Given the description of an element on the screen output the (x, y) to click on. 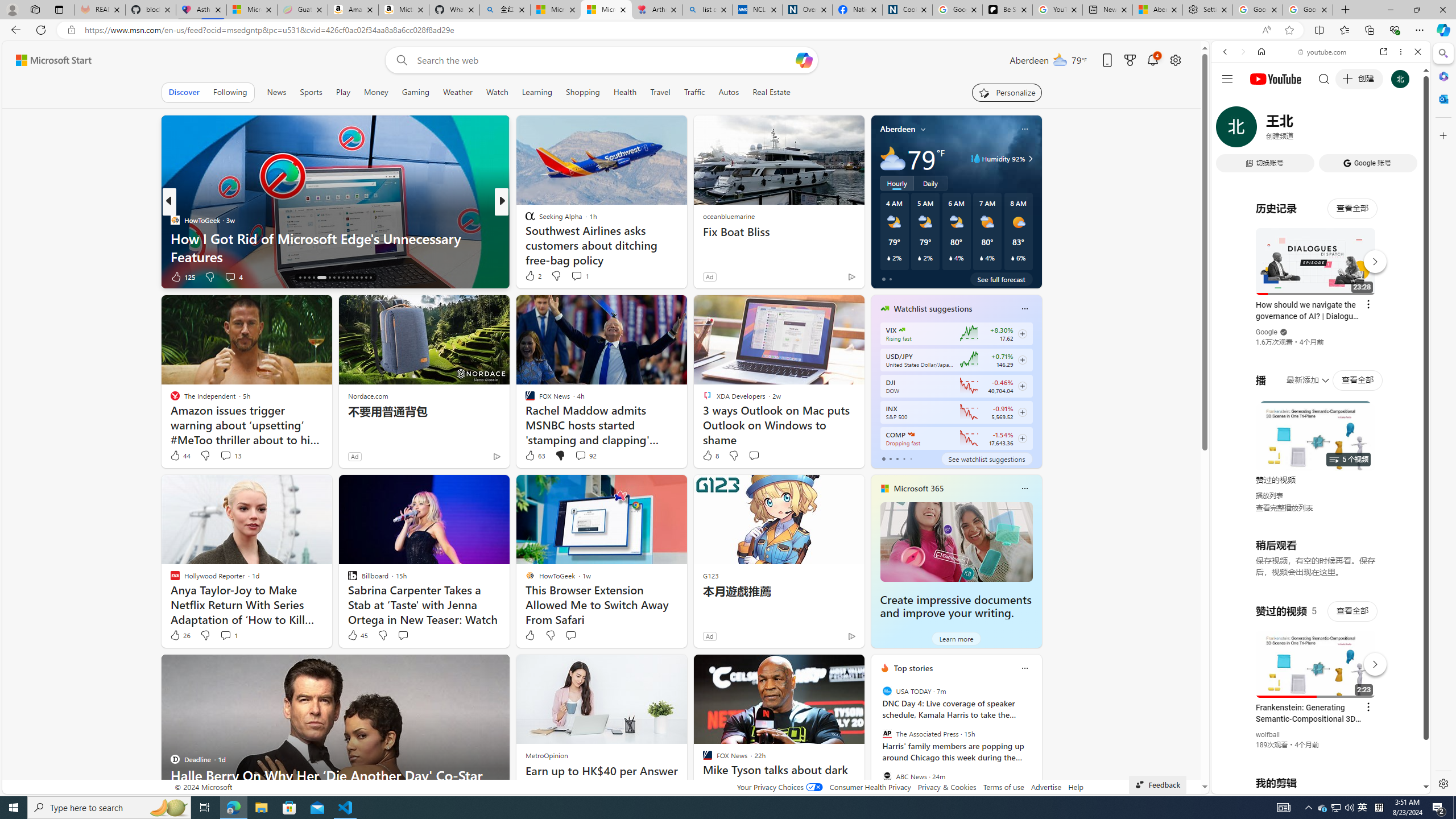
Top stories (913, 668)
AutomationID: tab-22 (333, 277)
